Given the description of an element on the screen output the (x, y) to click on. 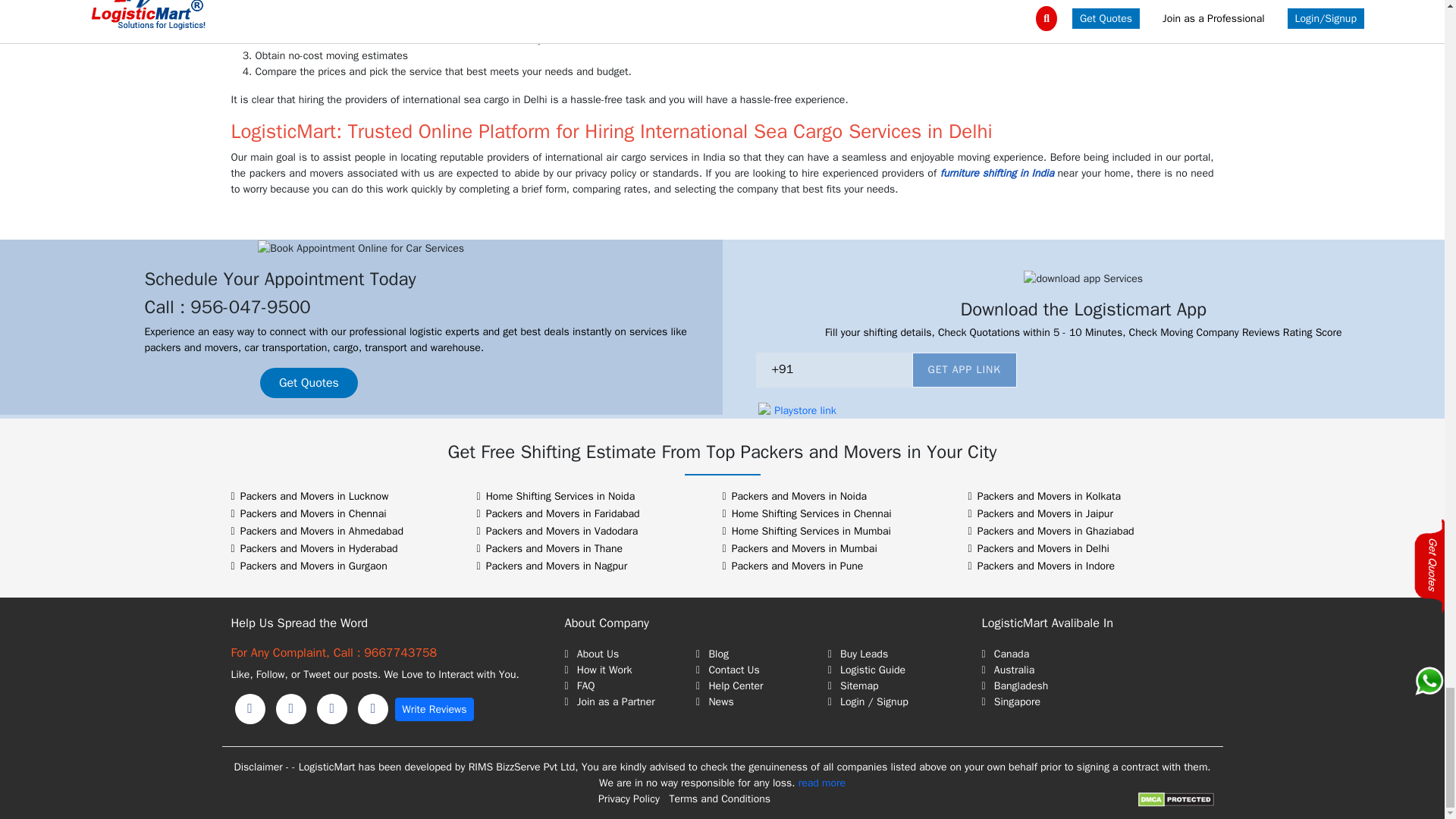
youtube (373, 708)
facebook (249, 708)
instagram (332, 708)
DMCA.com Protection Status (1174, 798)
linkedin (290, 708)
write-review (433, 709)
